Given the description of an element on the screen output the (x, y) to click on. 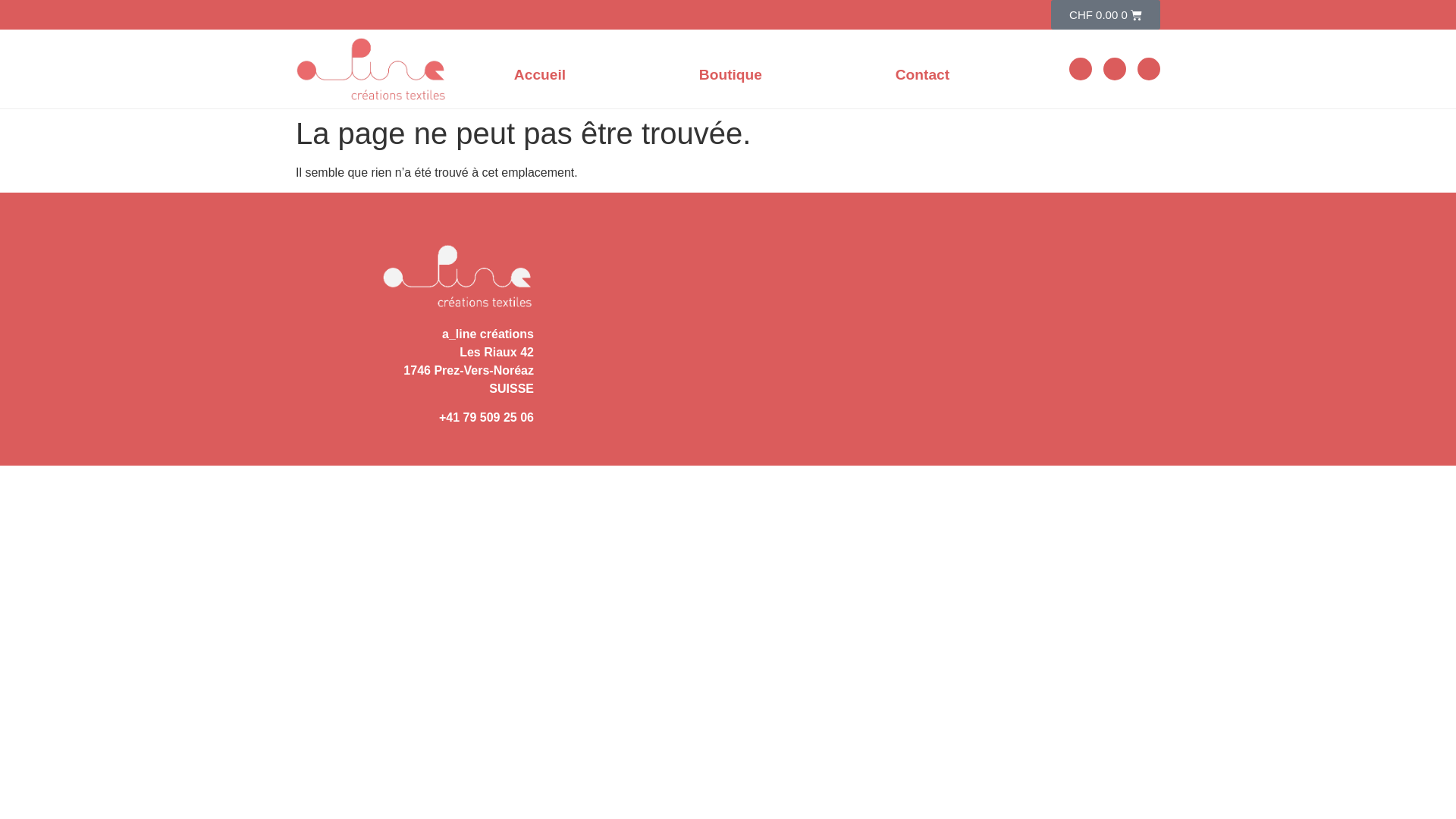
Contact Element type: text (922, 74)
Boutique Element type: text (730, 74)
CHF 0.00 0 Element type: text (1105, 14)
Accueil Element type: text (539, 74)
